Given the description of an element on the screen output the (x, y) to click on. 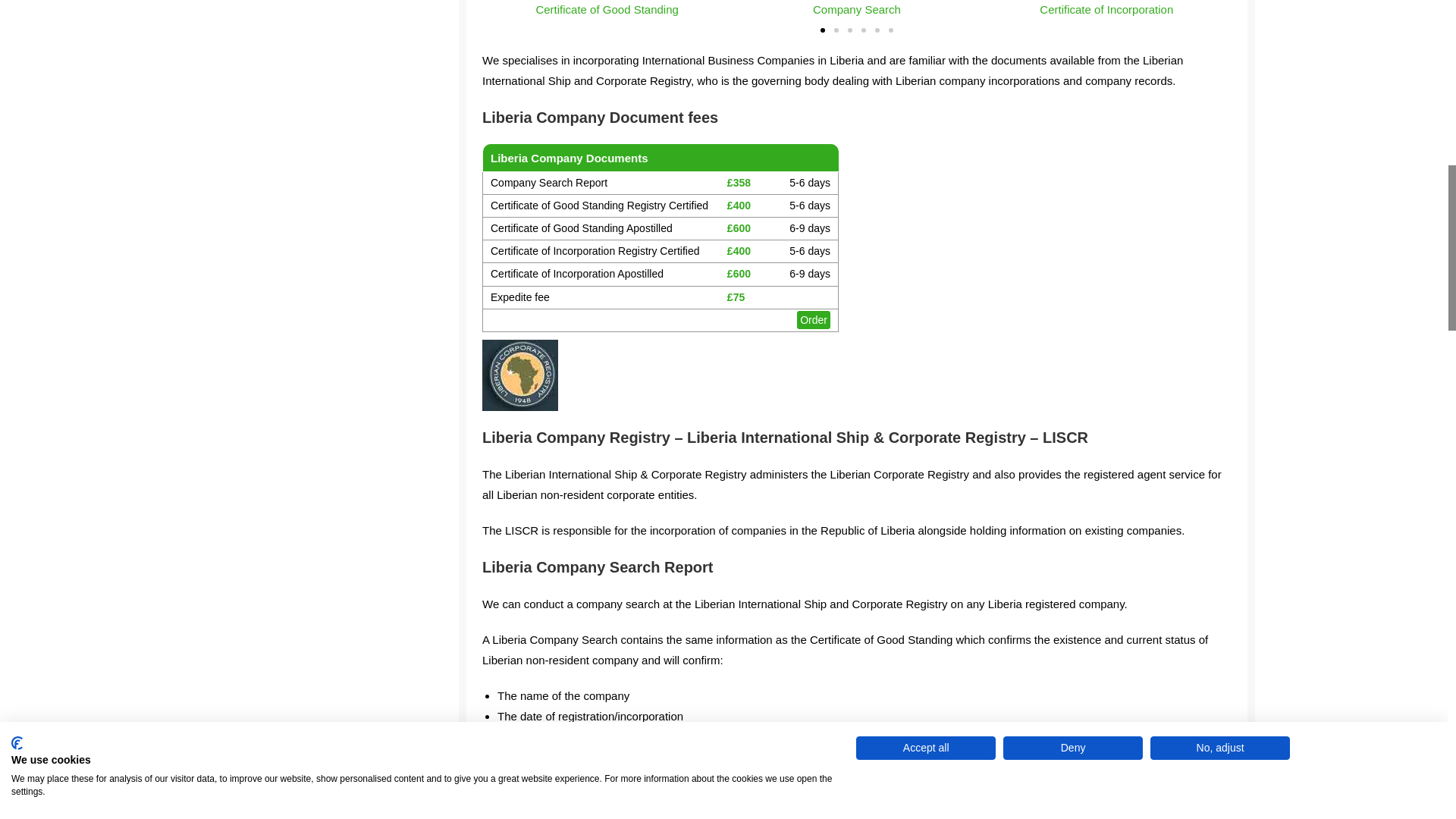
Company Search (856, 9)
Certificate of Incorporation (1106, 9)
Certificate of Good Standing (607, 9)
